Given the description of an element on the screen output the (x, y) to click on. 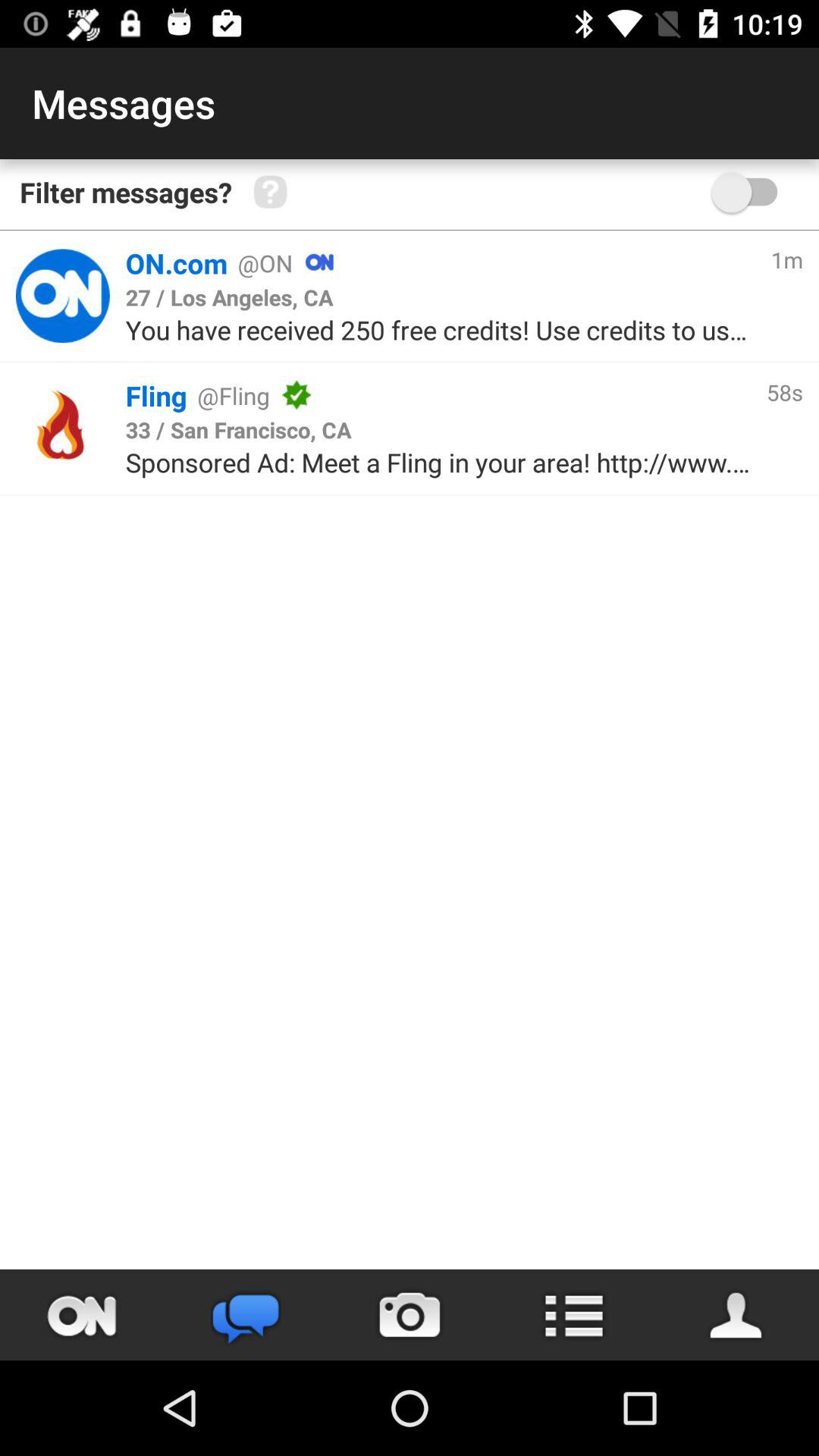
camera (409, 1315)
